Given the description of an element on the screen output the (x, y) to click on. 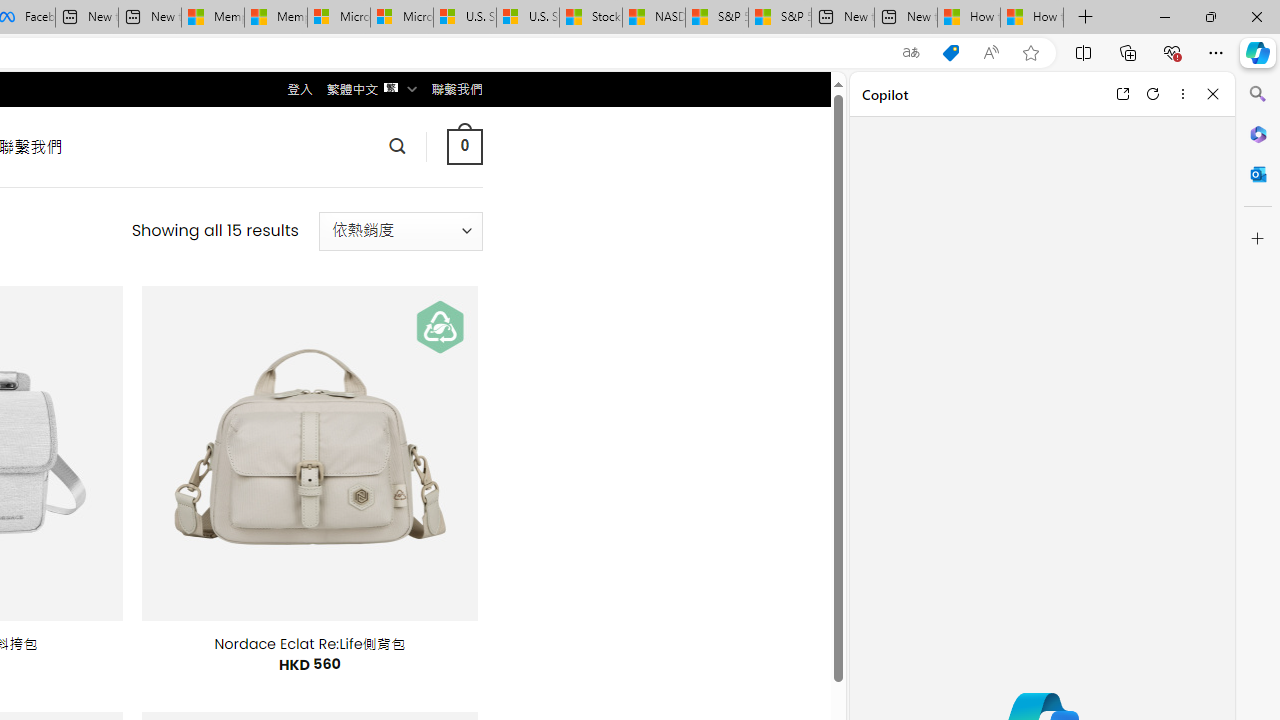
Add this page to favorites (Ctrl+D) (1030, 53)
Collections (1128, 52)
S&P 500, Nasdaq end lower, weighed by Nvidia dip | Watch (779, 17)
Show translate options (910, 53)
Split screen (1083, 52)
Copilot (Ctrl+Shift+.) (1258, 52)
New Tab (1085, 17)
How to Use a Monitor With Your Closed Laptop (1032, 17)
Customize (1258, 239)
Settings and more (Alt+F) (1215, 52)
